Given the description of an element on the screen output the (x, y) to click on. 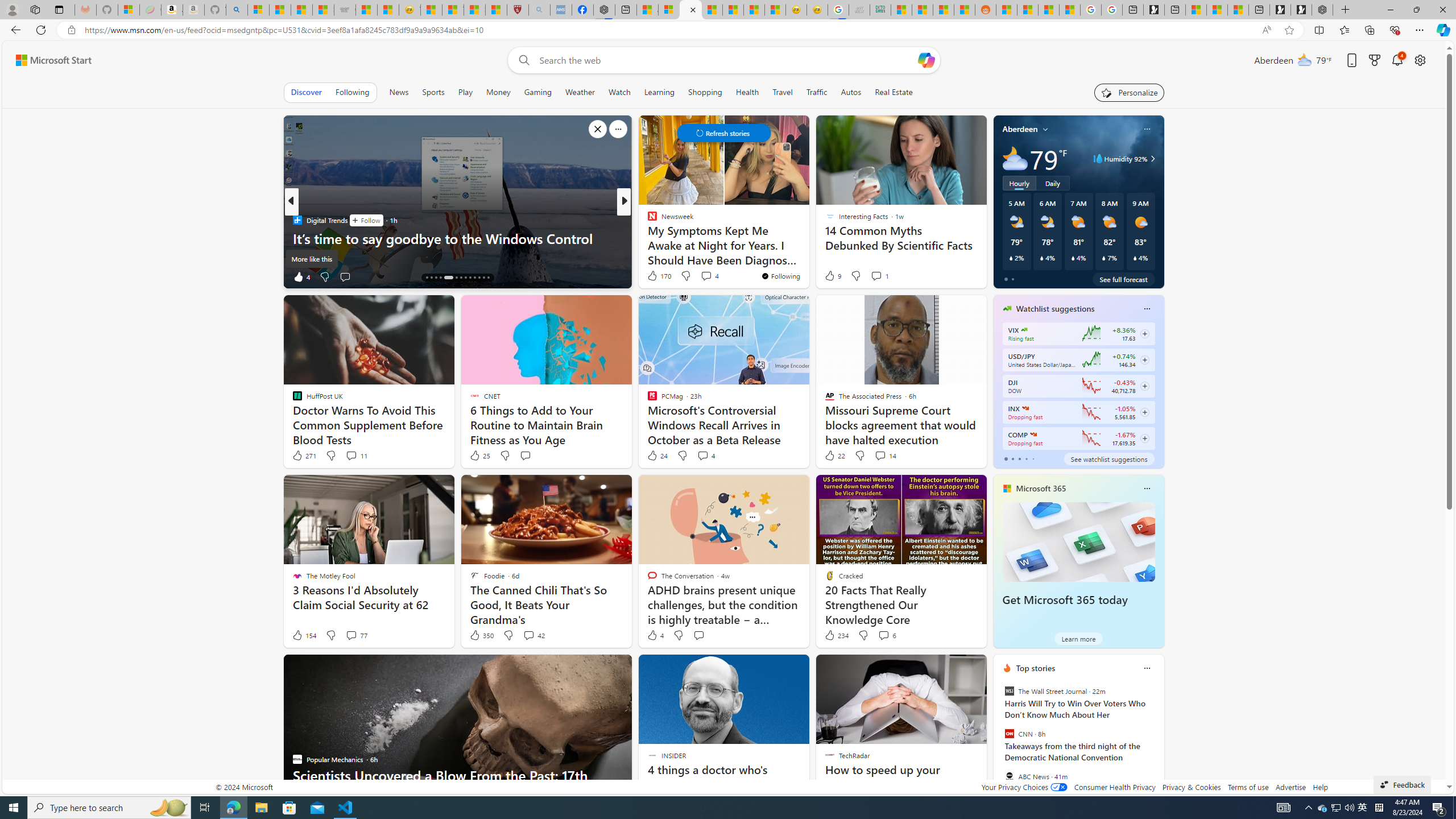
See watchlist suggestions (1108, 459)
Hide this story (841, 668)
22 Like (834, 455)
tab-2 (1019, 458)
View comments 77 Comment (350, 635)
